Given the description of an element on the screen output the (x, y) to click on. 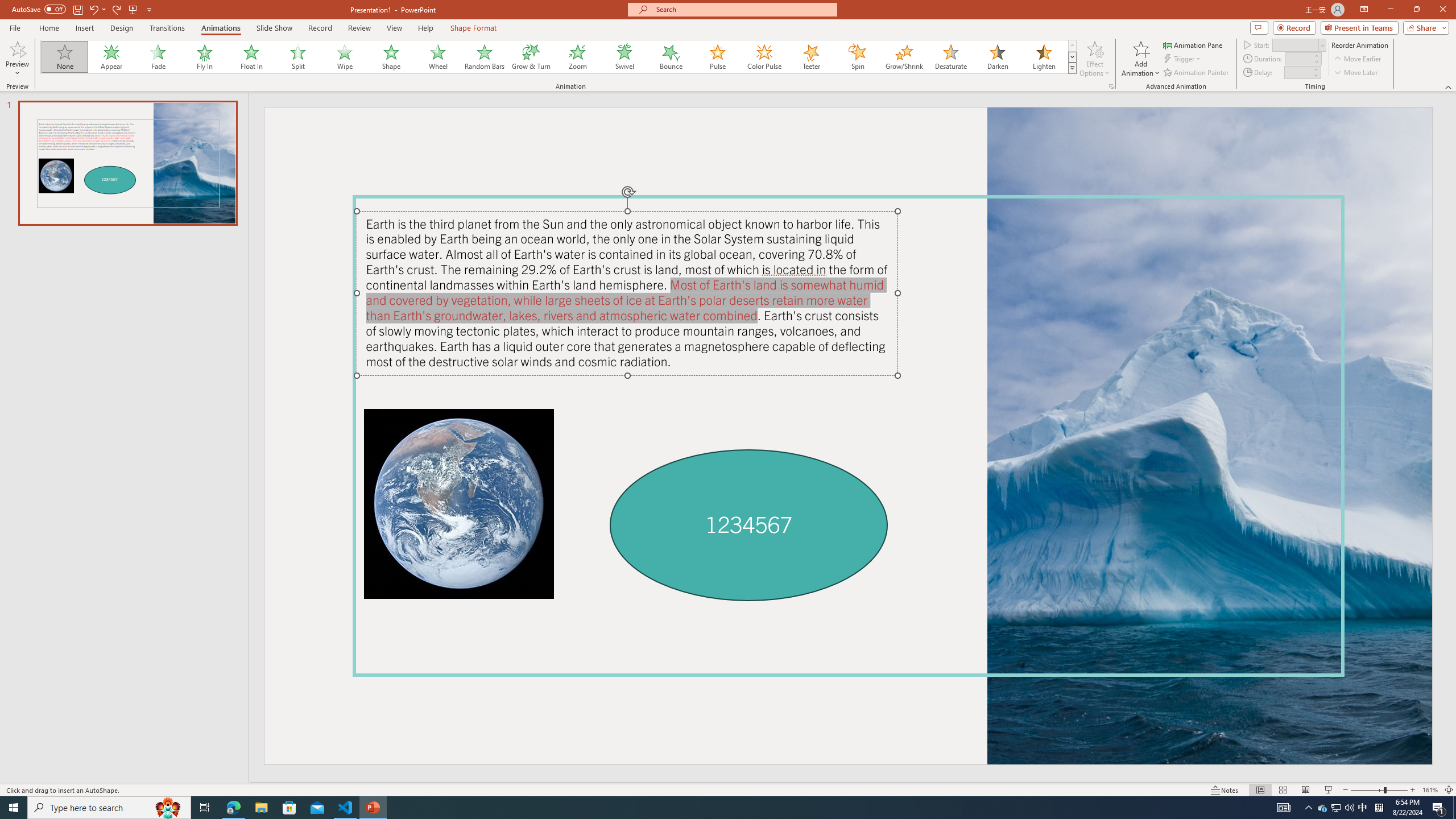
Trigger (1182, 58)
Add Animation (1141, 58)
Swivel (624, 56)
Bounce (670, 56)
Color Pulse (764, 56)
More Options... (1110, 85)
